Given the description of an element on the screen output the (x, y) to click on. 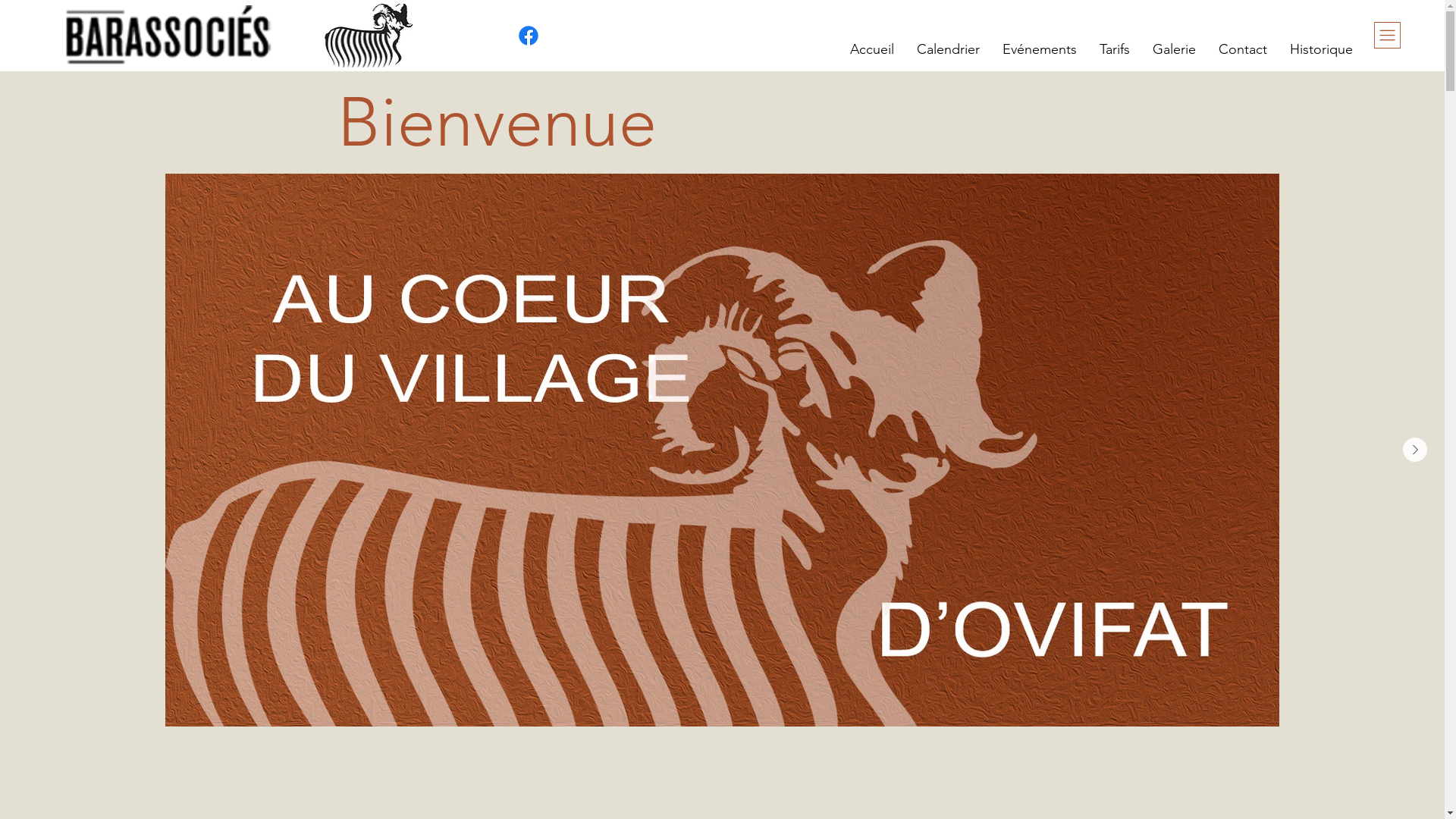
Galerie Element type: text (1174, 49)
Contact Element type: text (1242, 49)
Calendrier Element type: text (948, 49)
Accueil Element type: text (871, 49)
Tarifs Element type: text (1114, 49)
